Given the description of an element on the screen output the (x, y) to click on. 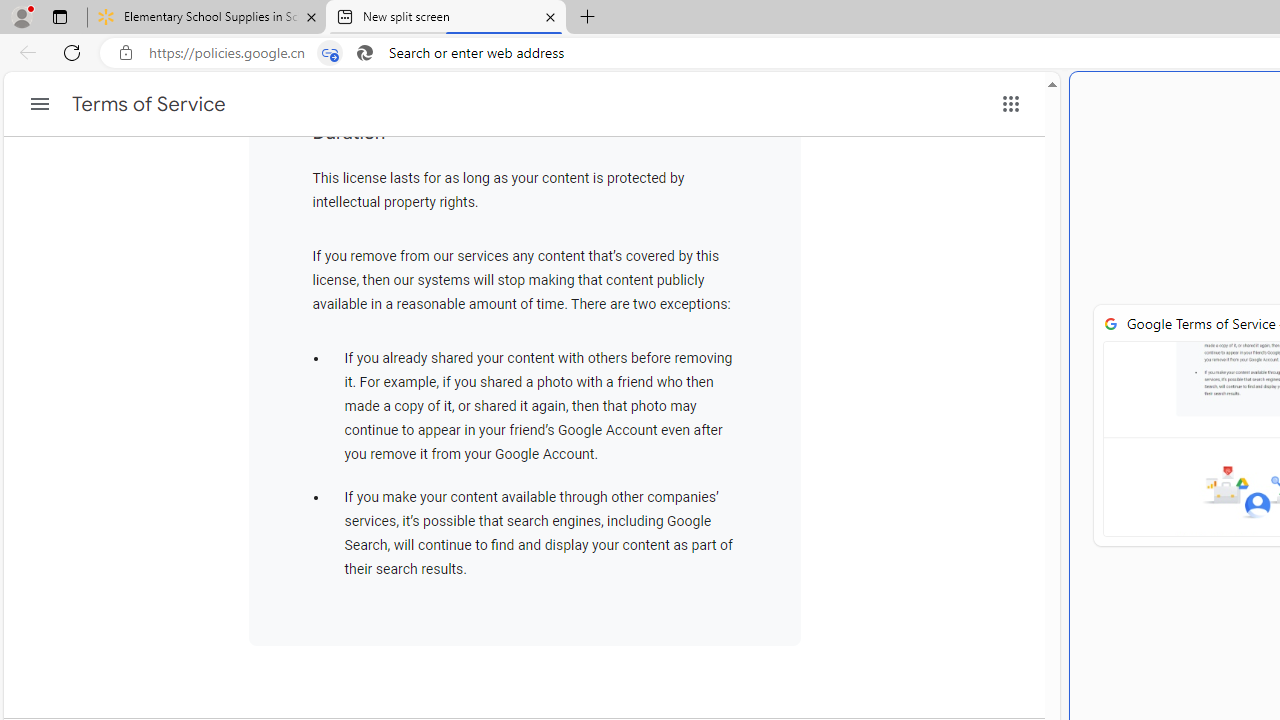
Tab actions menu (59, 16)
Search icon (365, 53)
Tabs in split screen (330, 53)
View site information (125, 53)
Refresh (72, 52)
New split screen (445, 17)
New Tab (587, 17)
Close tab (550, 16)
Back (24, 52)
